Given the description of an element on the screen output the (x, y) to click on. 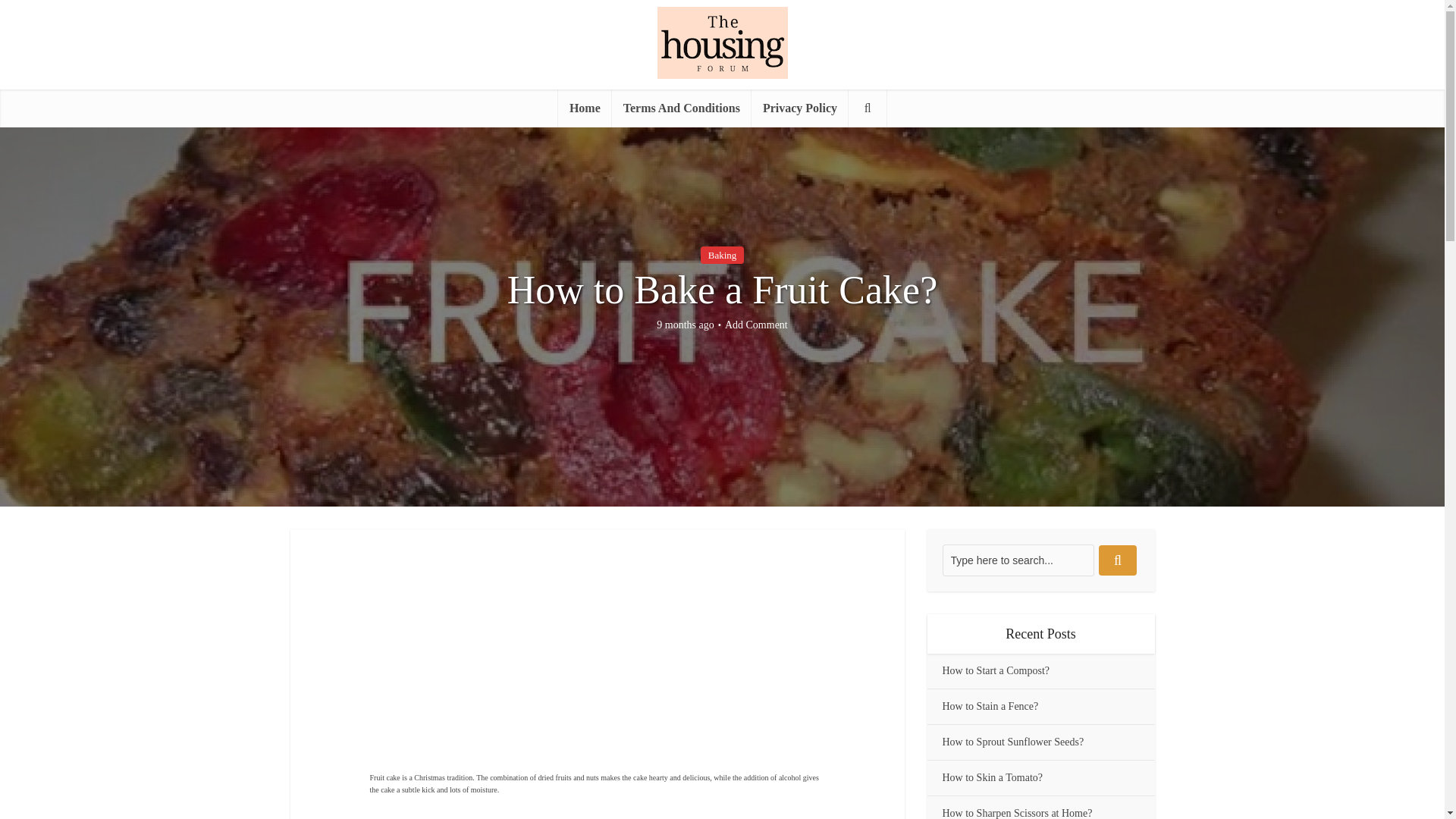
Baking (722, 254)
Type here to search... (1017, 560)
Add Comment (756, 325)
Privacy Policy (799, 108)
Home (584, 108)
Advertisement (657, 662)
Terms And Conditions (681, 108)
Type here to search... (1017, 560)
